Given the description of an element on the screen output the (x, y) to click on. 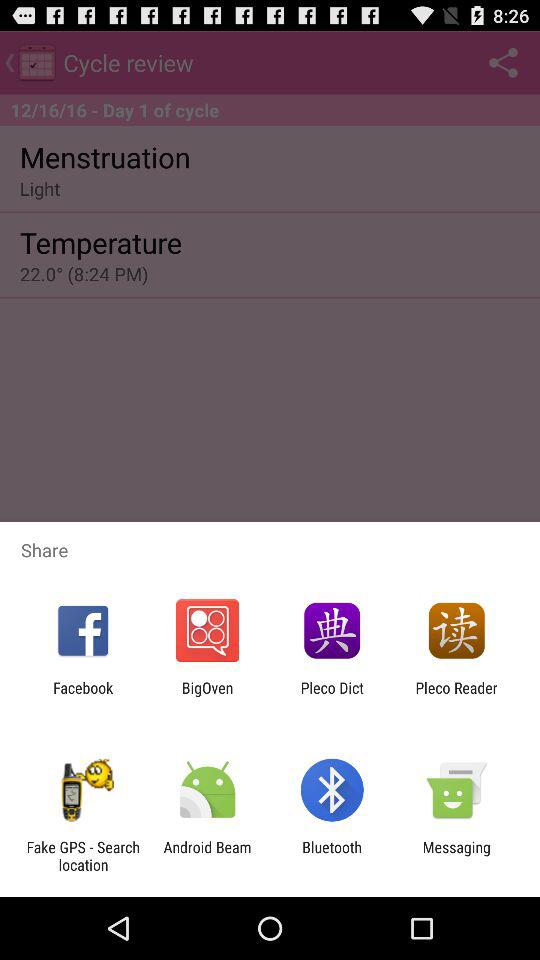
scroll to the bluetooth icon (331, 856)
